Given the description of an element on the screen output the (x, y) to click on. 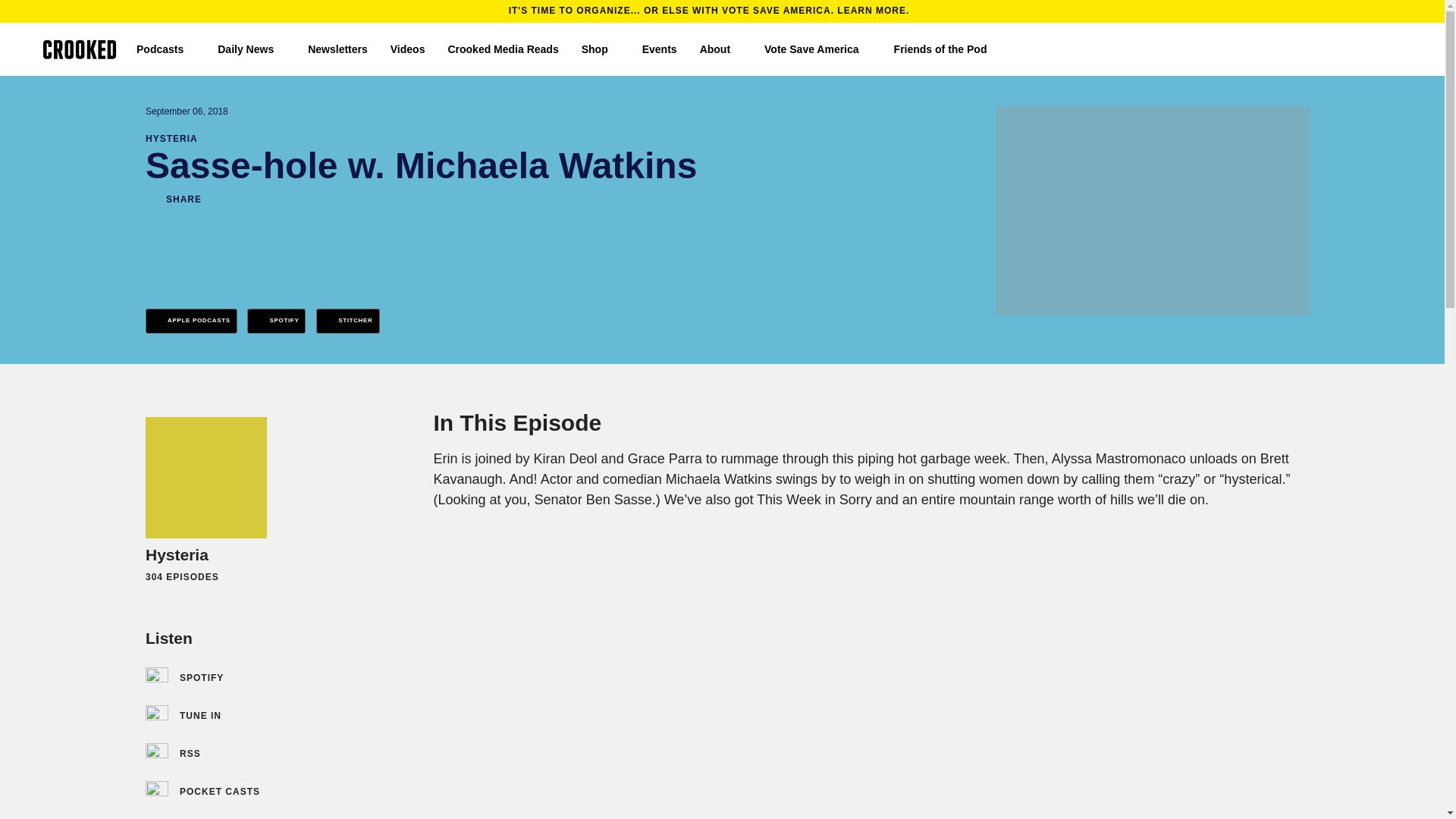
Newsletters (337, 48)
Daily News (250, 48)
Events (659, 48)
Podcasts (165, 48)
Vote Save America (817, 48)
Friends of the Pod (945, 48)
Crooked Media Reads (501, 48)
About (720, 48)
Shop (600, 48)
Videos (407, 48)
